Given the description of an element on the screen output the (x, y) to click on. 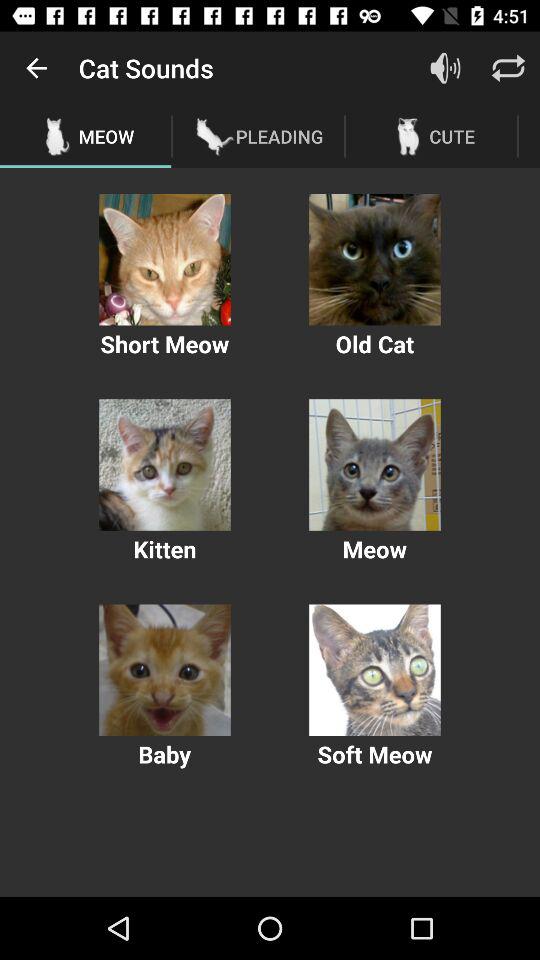
open the icon to the left of the cat sounds item (36, 68)
